Given the description of an element on the screen output the (x, y) to click on. 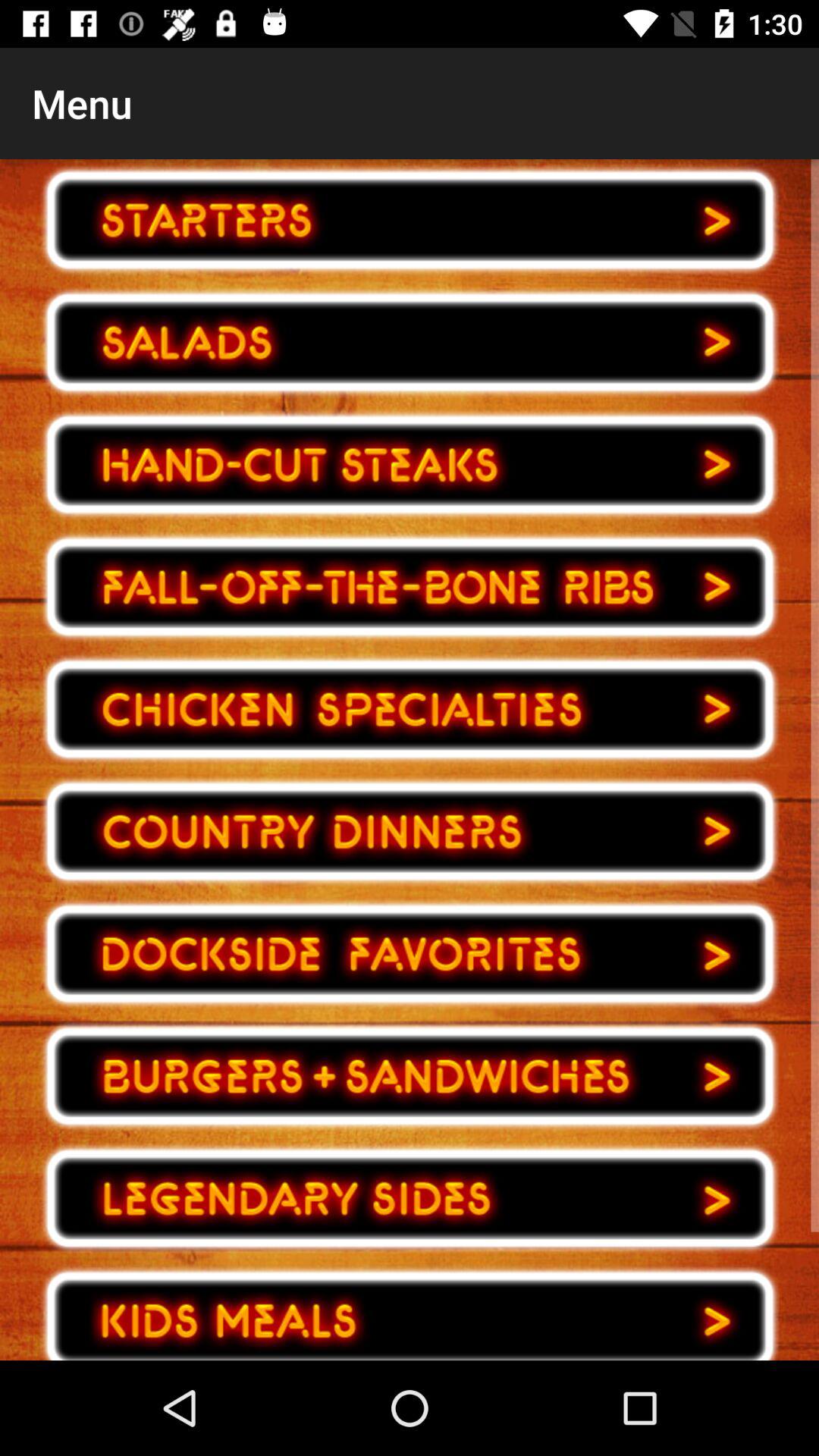
menu bar (409, 831)
